Given the description of an element on the screen output the (x, y) to click on. 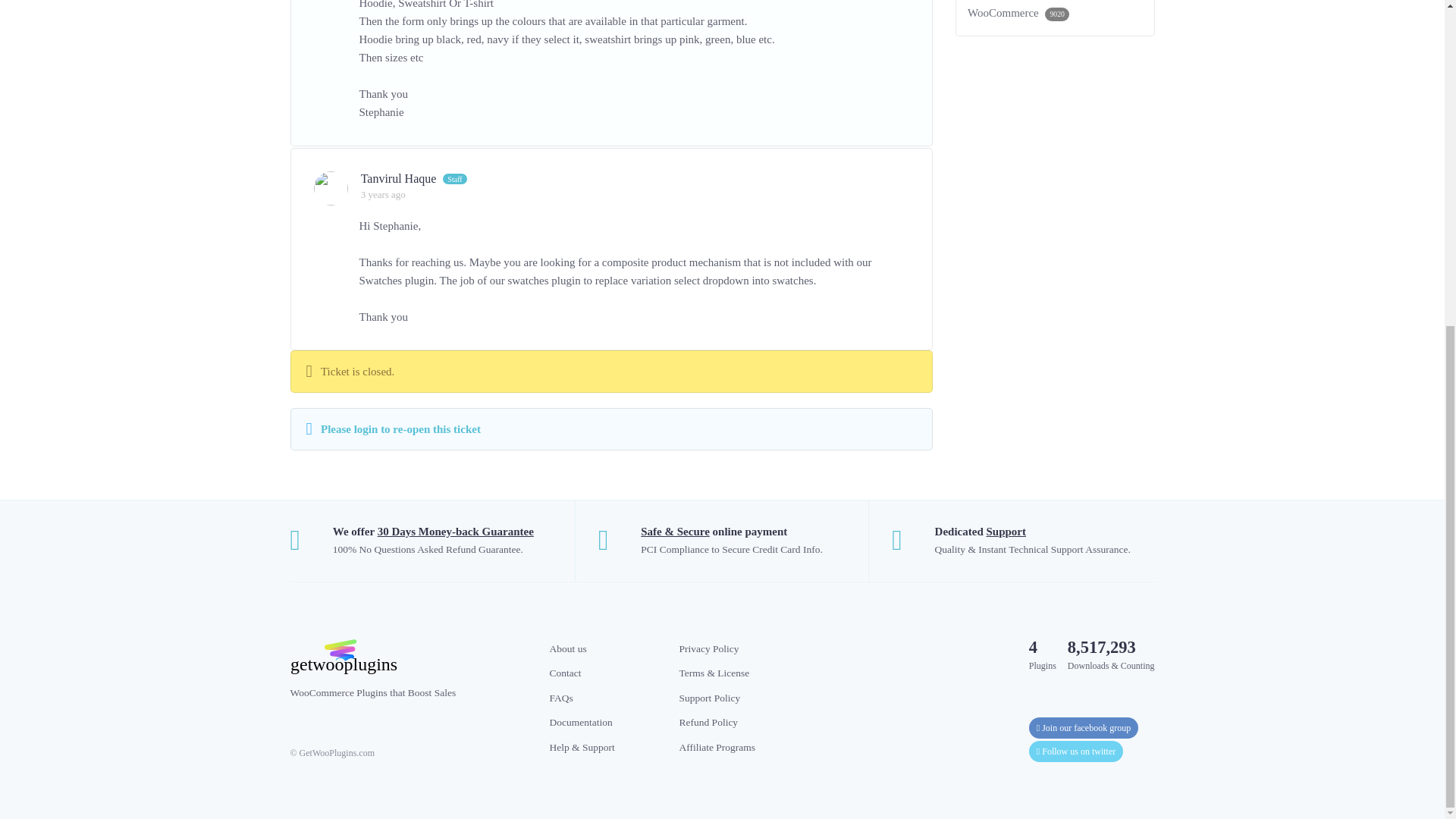
Support (1005, 531)
30 Days Money-back Guarantee (455, 531)
Join our facebook group (1083, 727)
GetWooPlugins (407, 656)
FAQs (560, 697)
About us (567, 647)
Documentation (579, 722)
Support Policy (710, 697)
Privacy Policy (709, 647)
Please login to re-open this ticket (400, 429)
Refund Policy (708, 722)
Variation Swatches For WooCommerce 9020 (1055, 12)
Contact (564, 672)
Affiliate Programs (717, 746)
